Given the description of an element on the screen output the (x, y) to click on. 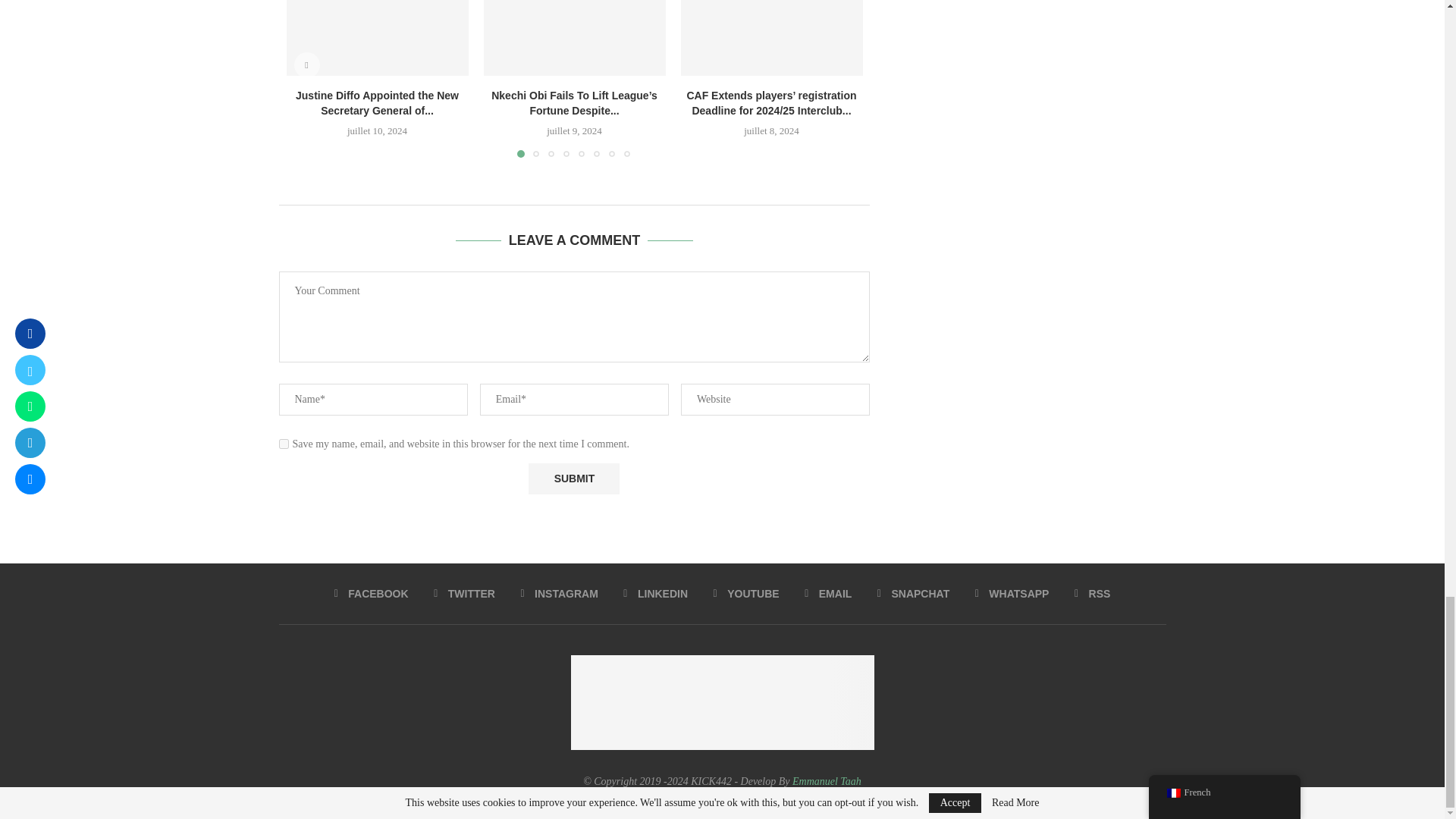
yes (283, 443)
Submit (574, 478)
